Given the description of an element on the screen output the (x, y) to click on. 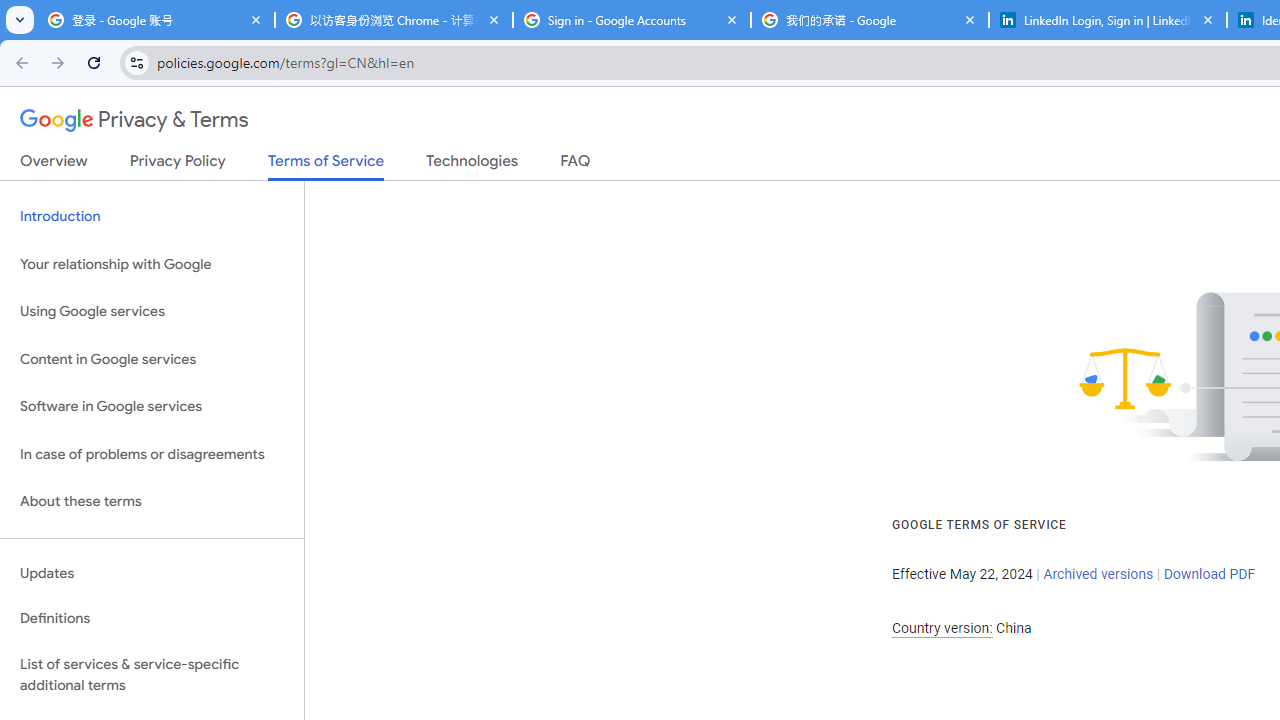
Country version: (942, 628)
Sign in - Google Accounts (632, 20)
LinkedIn Login, Sign in | LinkedIn (1108, 20)
Content in Google services (152, 358)
Definitions (152, 619)
Using Google services (152, 312)
